Given the description of an element on the screen output the (x, y) to click on. 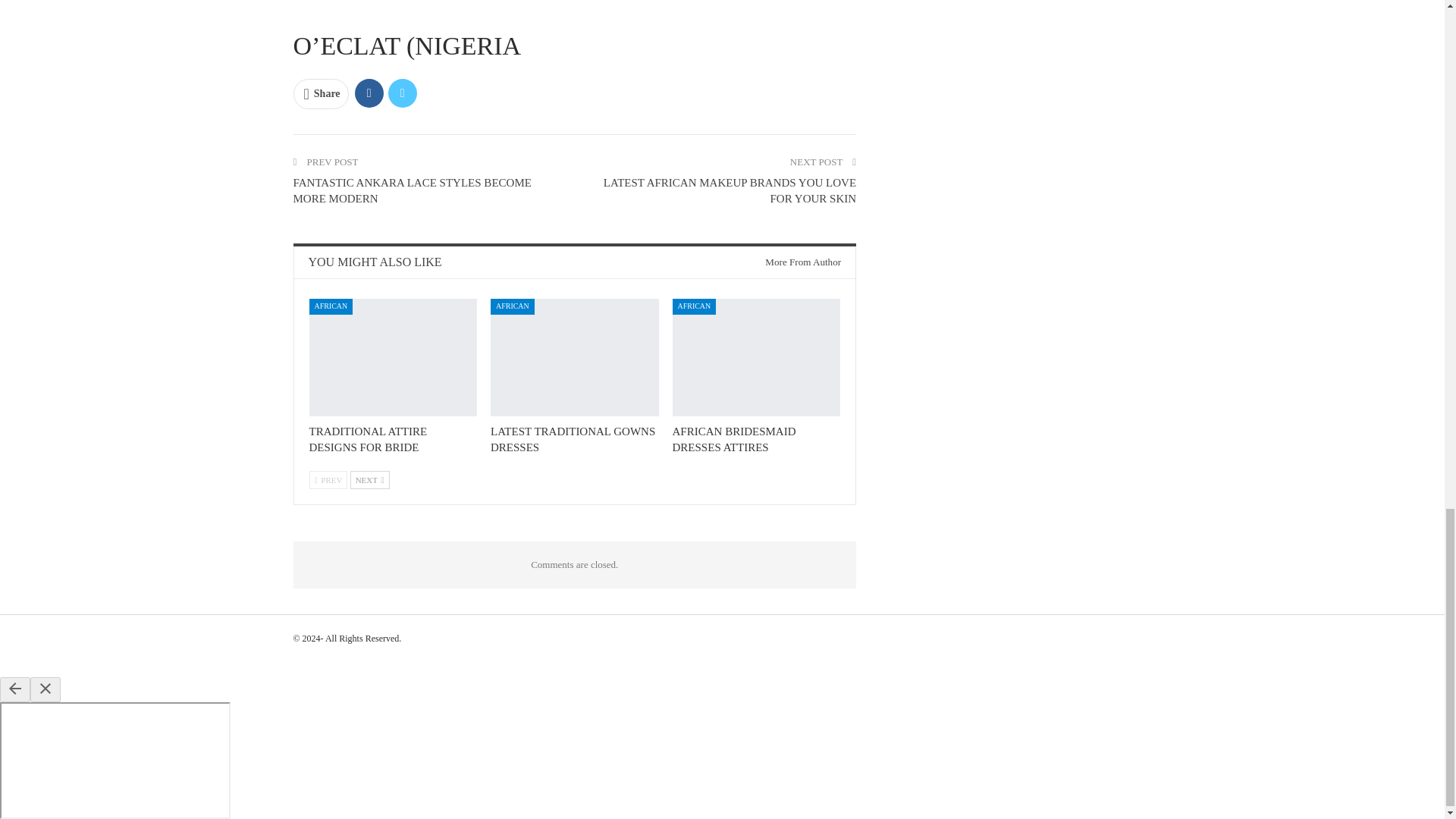
FANTASTIC ANKARA LACE STYLES BECOME MORE MODERN (411, 190)
More From Author (798, 262)
AFRICAN BRIDESMAID DRESSES ATTIRES (756, 357)
NEXT (370, 479)
YOU MIGHT ALSO LIKE (374, 261)
TRADITIONAL ATTIRE DESIGNS FOR BRIDE (392, 357)
LATEST TRADITIONAL GOWNS DRESSES (572, 439)
LATEST TRADITIONAL GOWNS DRESSES (574, 357)
LATEST AFRICAN MAKEUP BRANDS YOU LOVE FOR YOUR SKIN (730, 190)
AFRICAN (694, 306)
AFRICAN BRIDESMAID DRESSES ATTIRES (734, 439)
TRADITIONAL ATTIRE DESIGNS FOR BRIDE (368, 439)
AFRICAN (330, 306)
TRADITIONAL ATTIRE DESIGNS FOR BRIDE (368, 439)
Previous (327, 479)
